Given the description of an element on the screen output the (x, y) to click on. 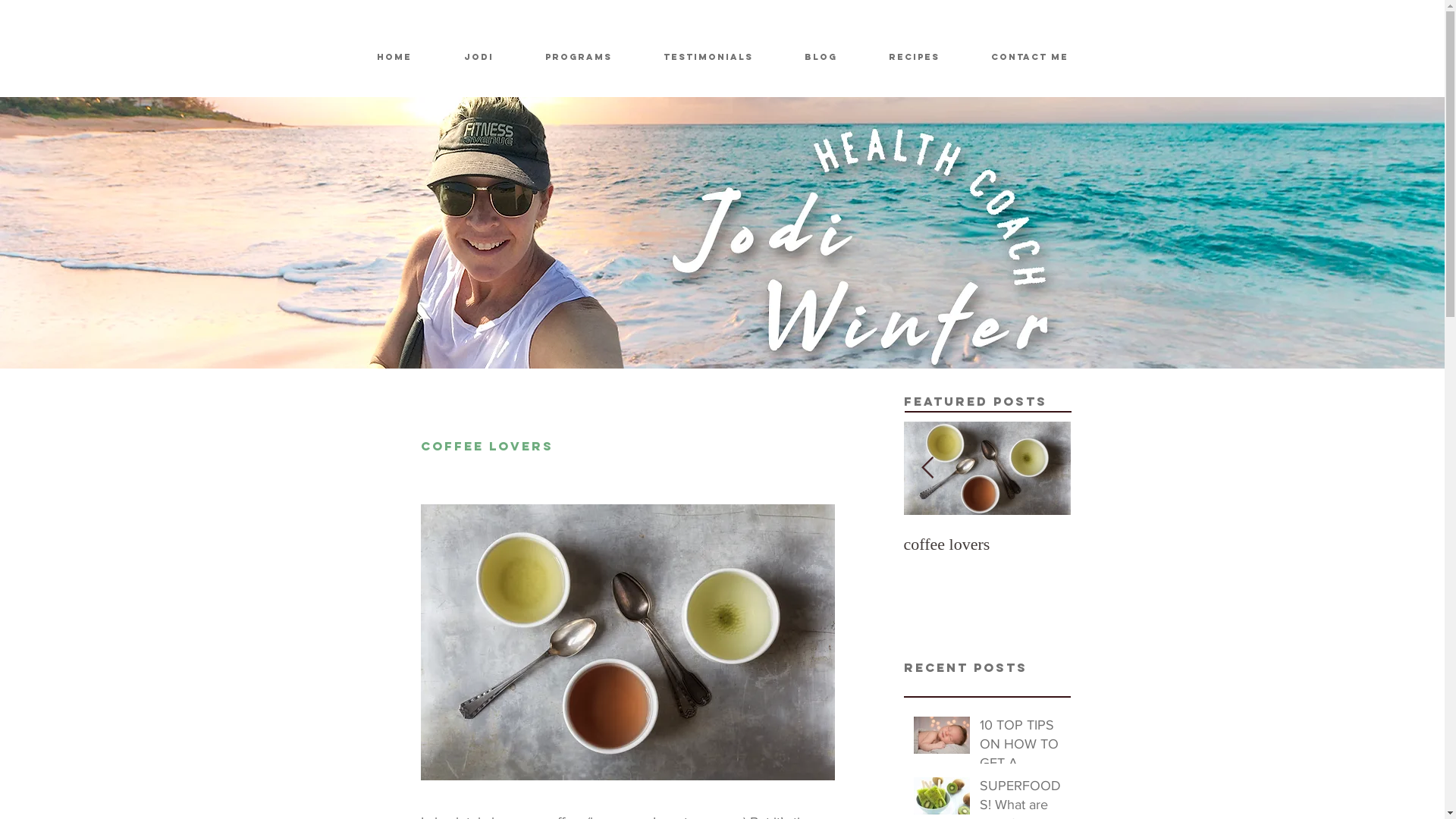
contact me Element type: text (1028, 56)
blog Element type: text (820, 56)
home Element type: text (393, 56)
coffee lovers Element type: text (986, 544)
recipes Element type: text (913, 56)
8 good reasons to exercise Element type: text (820, 554)
Jodi Element type: text (478, 56)
testimonials Element type: text (707, 56)
10 TOP TIPS ON HOW TO GET A GOOD NIGHTS SLEEP Element type: text (1020, 746)
Programs Element type: text (577, 56)
